Given the description of an element on the screen output the (x, y) to click on. 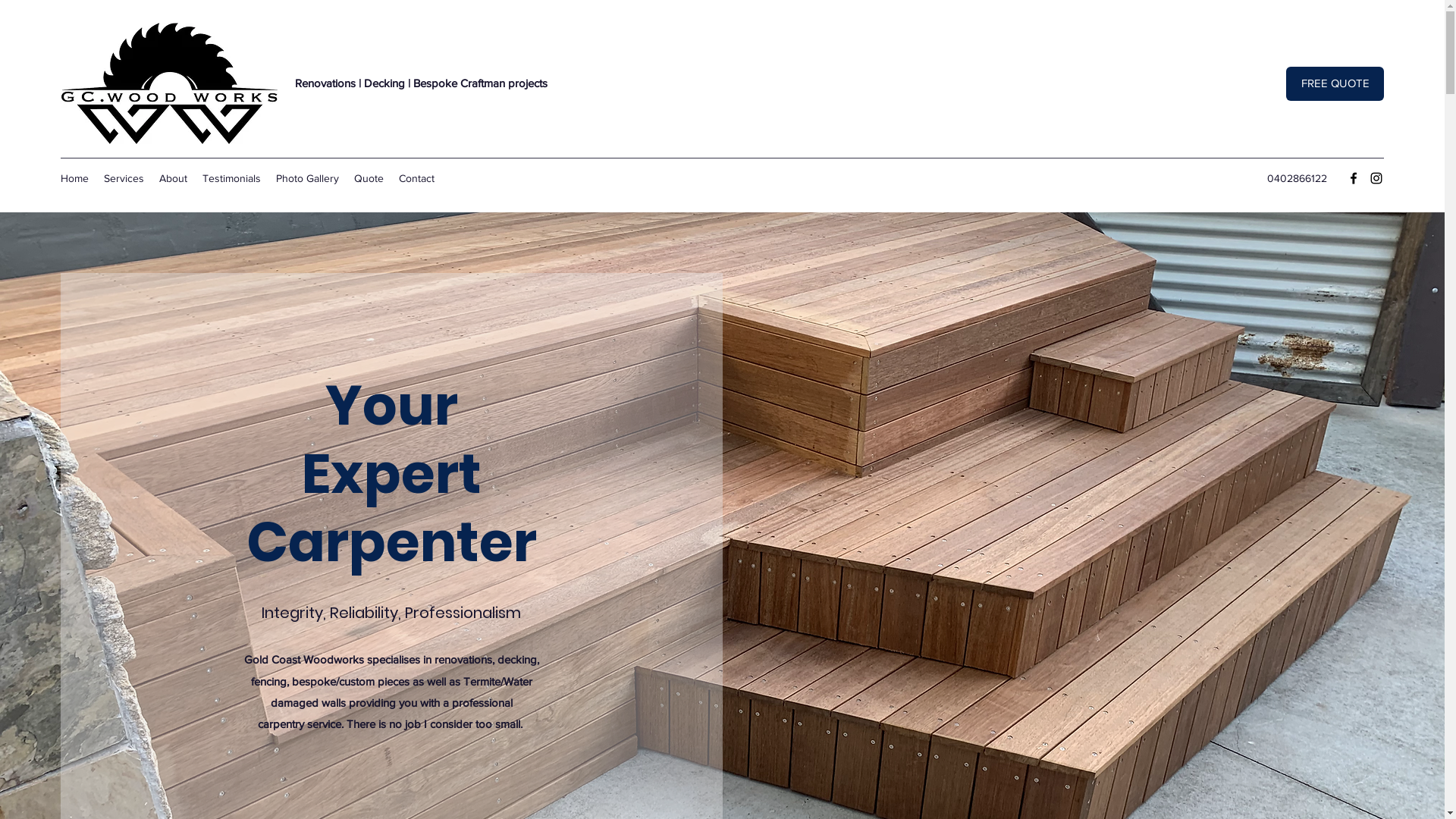
Quote Element type: text (368, 177)
Contact Element type: text (416, 177)
Testimonials Element type: text (231, 177)
FREE QUOTE Element type: text (1334, 83)
Services Element type: text (123, 177)
Photo Gallery Element type: text (307, 177)
About Element type: text (172, 177)
Home Element type: text (74, 177)
